Given the description of an element on the screen output the (x, y) to click on. 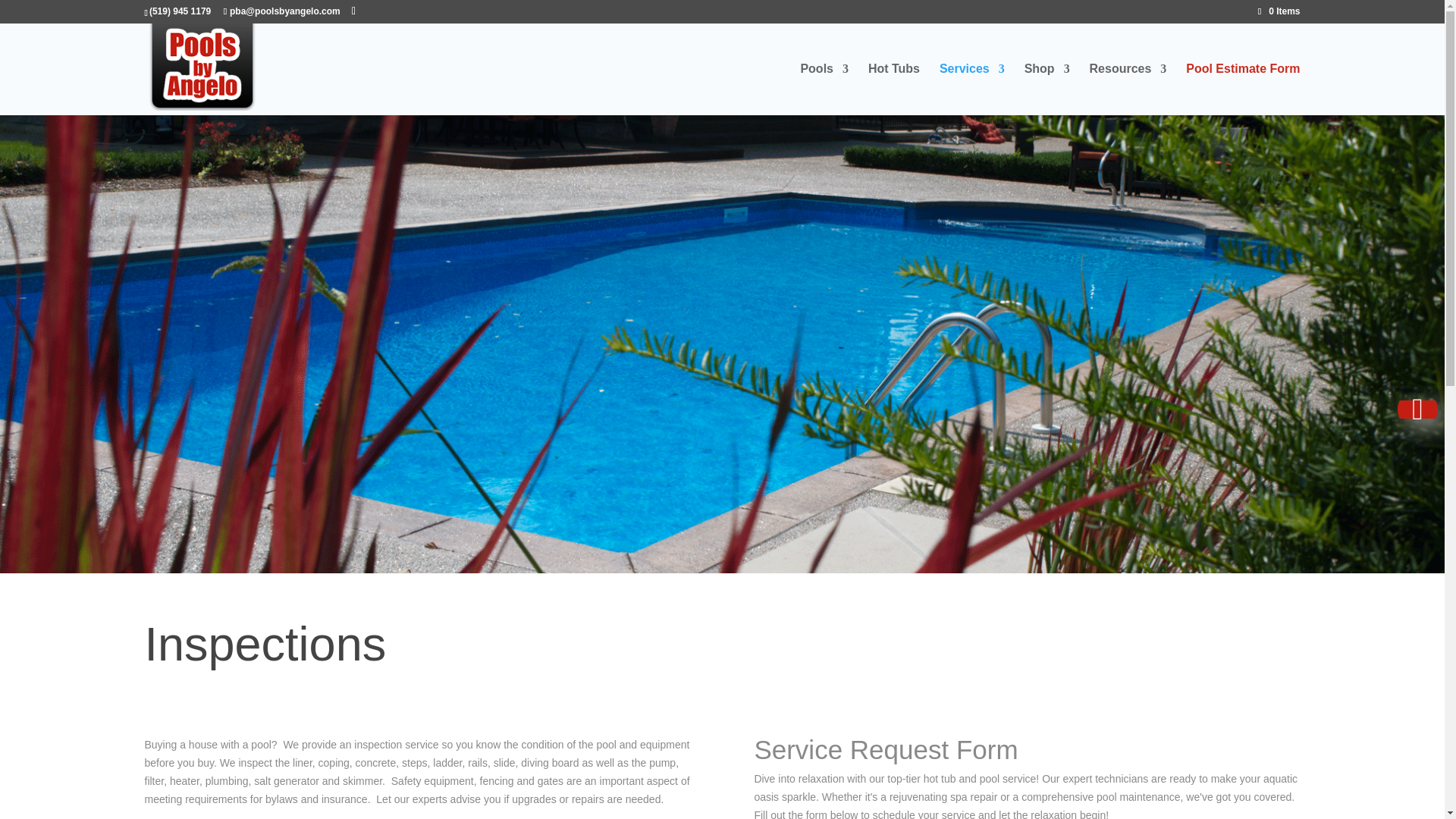
Pools (823, 89)
Hot Tubs (893, 89)
0 Items (1278, 10)
Services (971, 89)
